Given the description of an element on the screen output the (x, y) to click on. 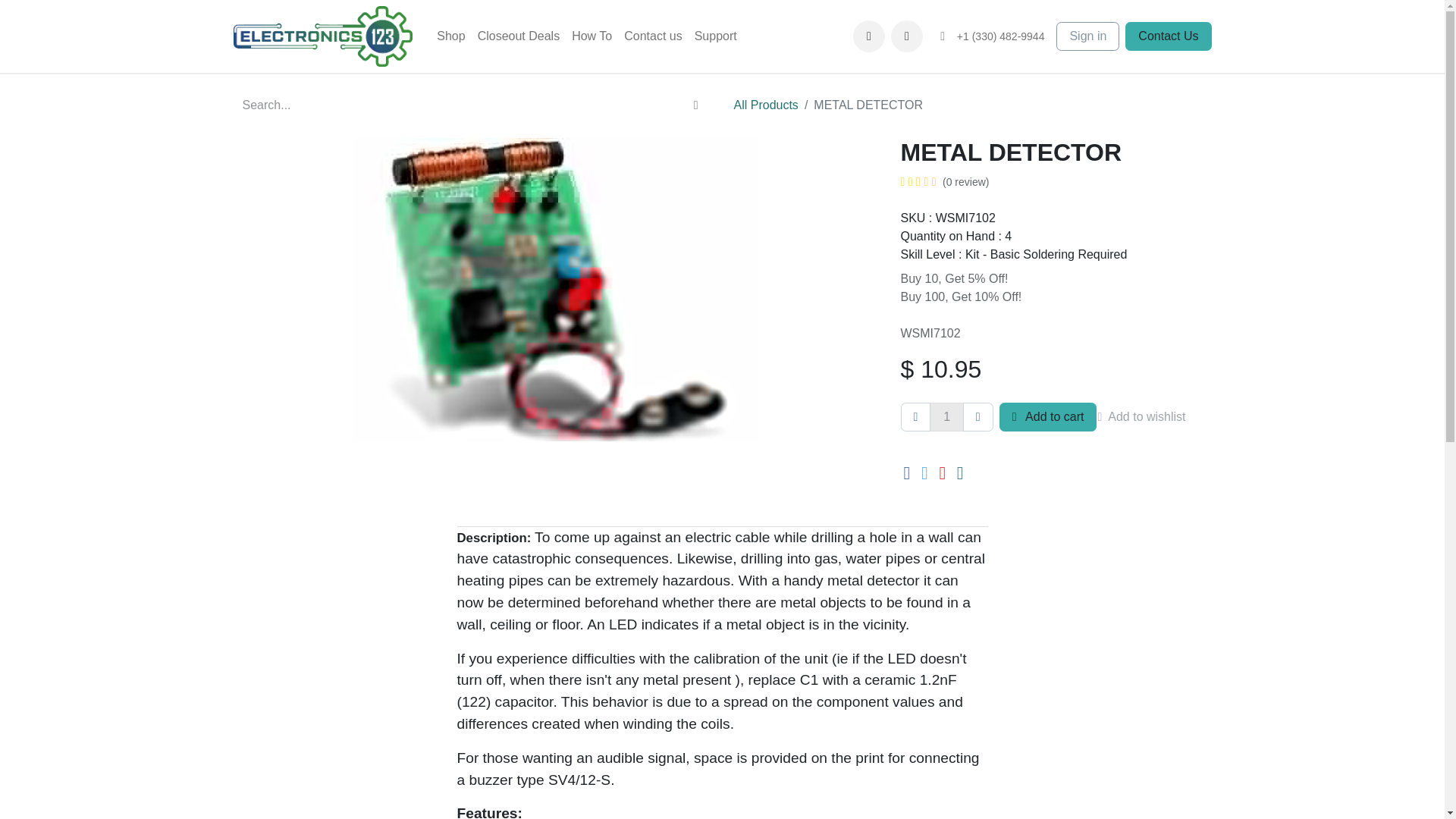
All Products (765, 104)
1 (946, 416)
Add to wishlist (1147, 416)
Remove one (916, 416)
Contact Us (1168, 36)
Contact us (652, 36)
Add to cart (1047, 416)
Sign in (1088, 36)
Support (715, 36)
Add to wishlist (1147, 416)
